Given the description of an element on the screen output the (x, y) to click on. 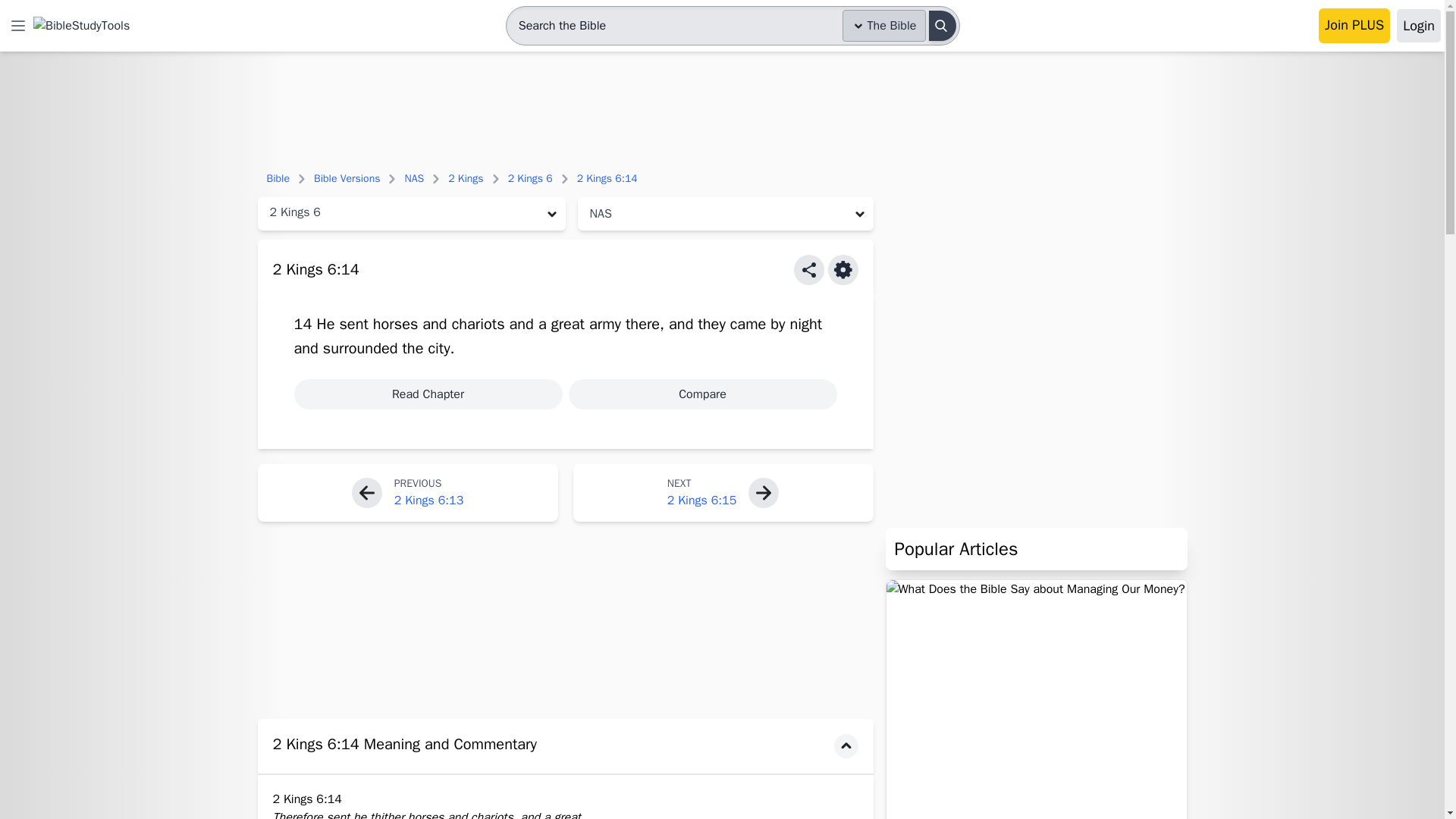
Scripture Settings (843, 269)
Strong's Number: 0935 (748, 323)
Strong's Number: 07393 (478, 323)
Strong's Number: 05362 (360, 348)
Strong's Number: 03515 (568, 323)
Login (1418, 25)
Strong's Number: 07971 (353, 323)
Strong's Number: 02428 (605, 323)
Strong's Number: 05892 (438, 348)
Strong's Number: 08033 (642, 323)
